Given the description of an element on the screen output the (x, y) to click on. 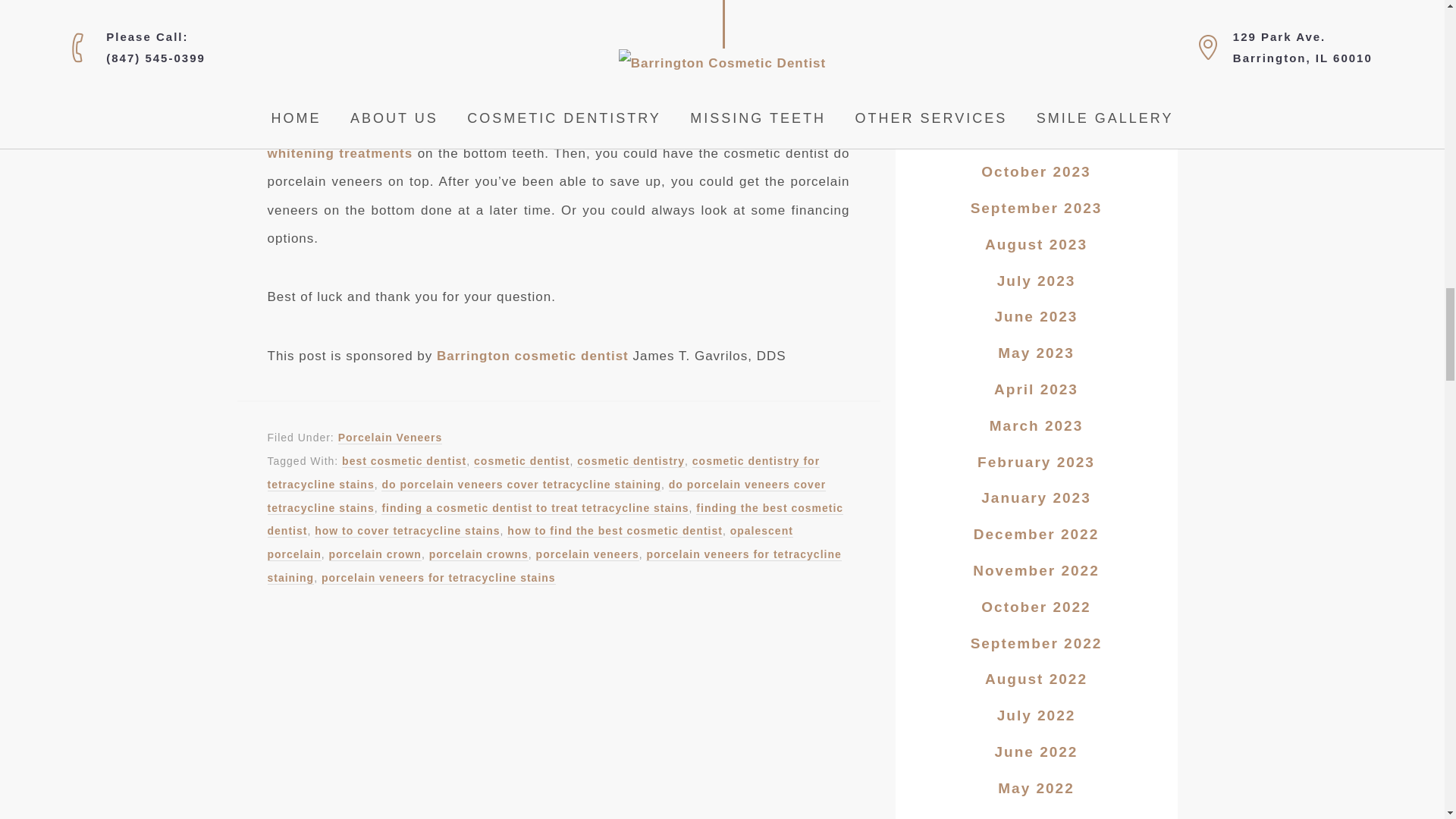
do porcelain veneers cover tetracycline staining (521, 484)
finding the best cosmetic dentist (554, 520)
Porcelain Veneers (389, 437)
teeth whitening treatments (557, 138)
best cosmetic dentist (403, 461)
cosmetic dentistry (630, 461)
do porcelain veneers cover tetracycline stains (545, 496)
finding a cosmetic dentist to treat tetracycline stains (534, 508)
cosmetic dentist (521, 461)
Barrington cosmetic dentist (532, 355)
